Given the description of an element on the screen output the (x, y) to click on. 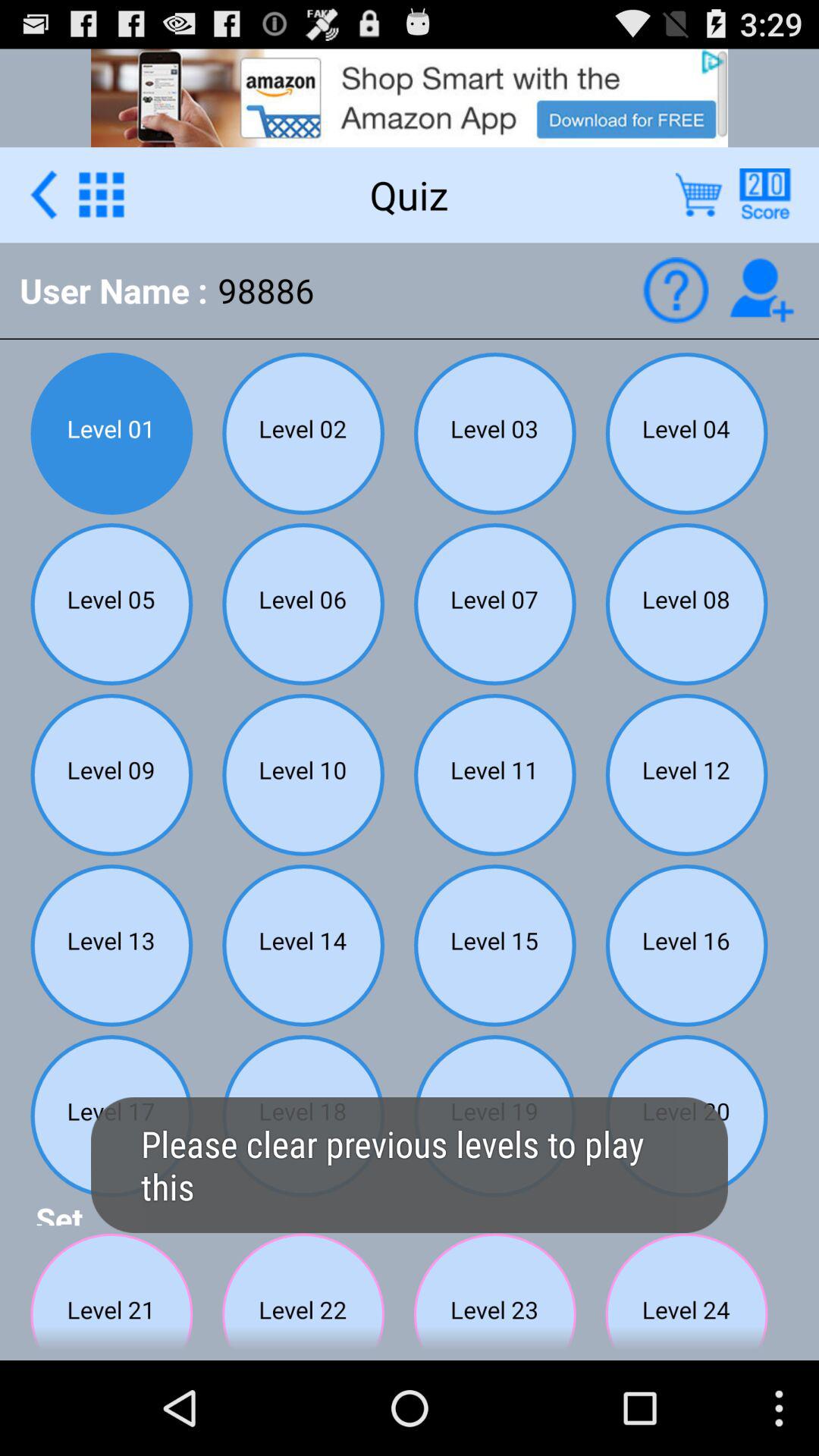
share the article (764, 194)
